Given the description of an element on the screen output the (x, y) to click on. 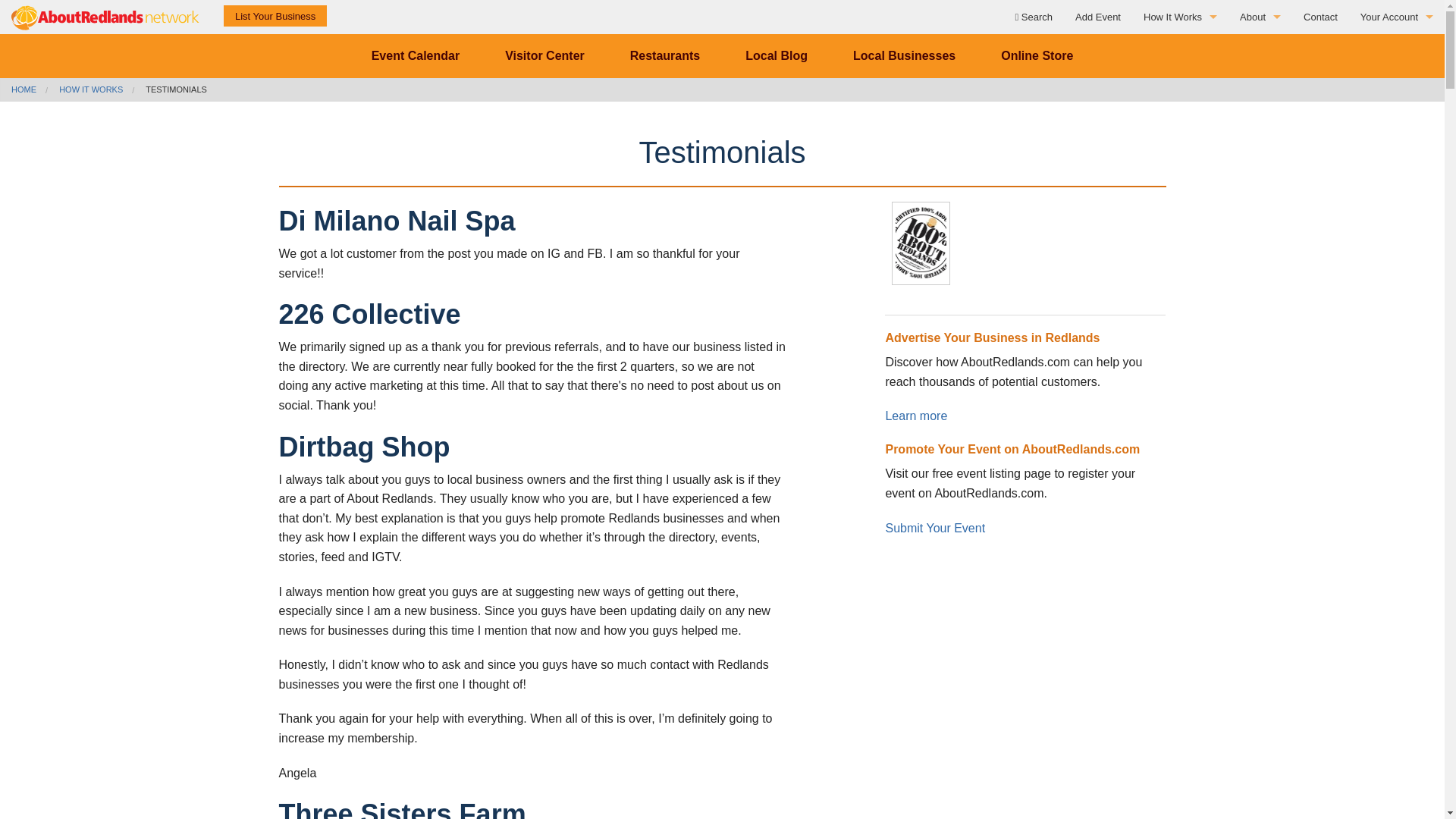
Search (1033, 17)
About (1260, 50)
Add Event (1098, 17)
AboutRedlands.com (106, 17)
How It Works (1180, 17)
List Your Business (1180, 187)
List your event on AboutRedlands.com (1098, 17)
List Your Business (1260, 119)
Member Resources (1180, 84)
How It Works (1180, 50)
